Given the description of an element on the screen output the (x, y) to click on. 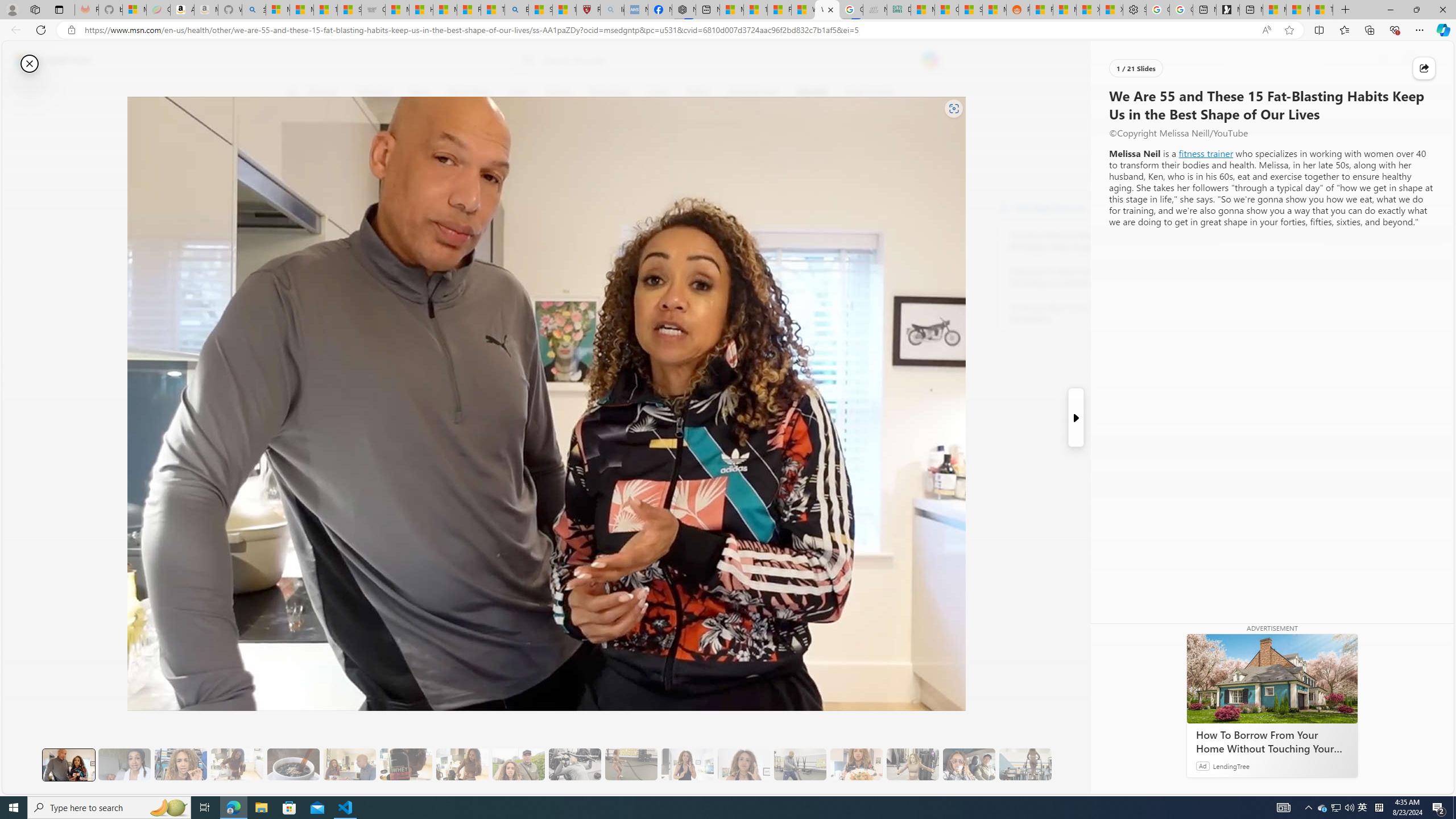
11 They Eat More Protein for Breakfast (687, 764)
How I Got Rid of Microsoft Edge's Unnecessary Features (421, 9)
Class: at-item immersive (1423, 68)
R******* | Trusted Community Engagement and Contributions (1041, 9)
Entertainment (753, 92)
8 They Walk to the Gym (518, 764)
9 They Do Bench Exercises (574, 764)
5 She Eats Less Than Her Husband (349, 764)
